Given the description of an element on the screen output the (x, y) to click on. 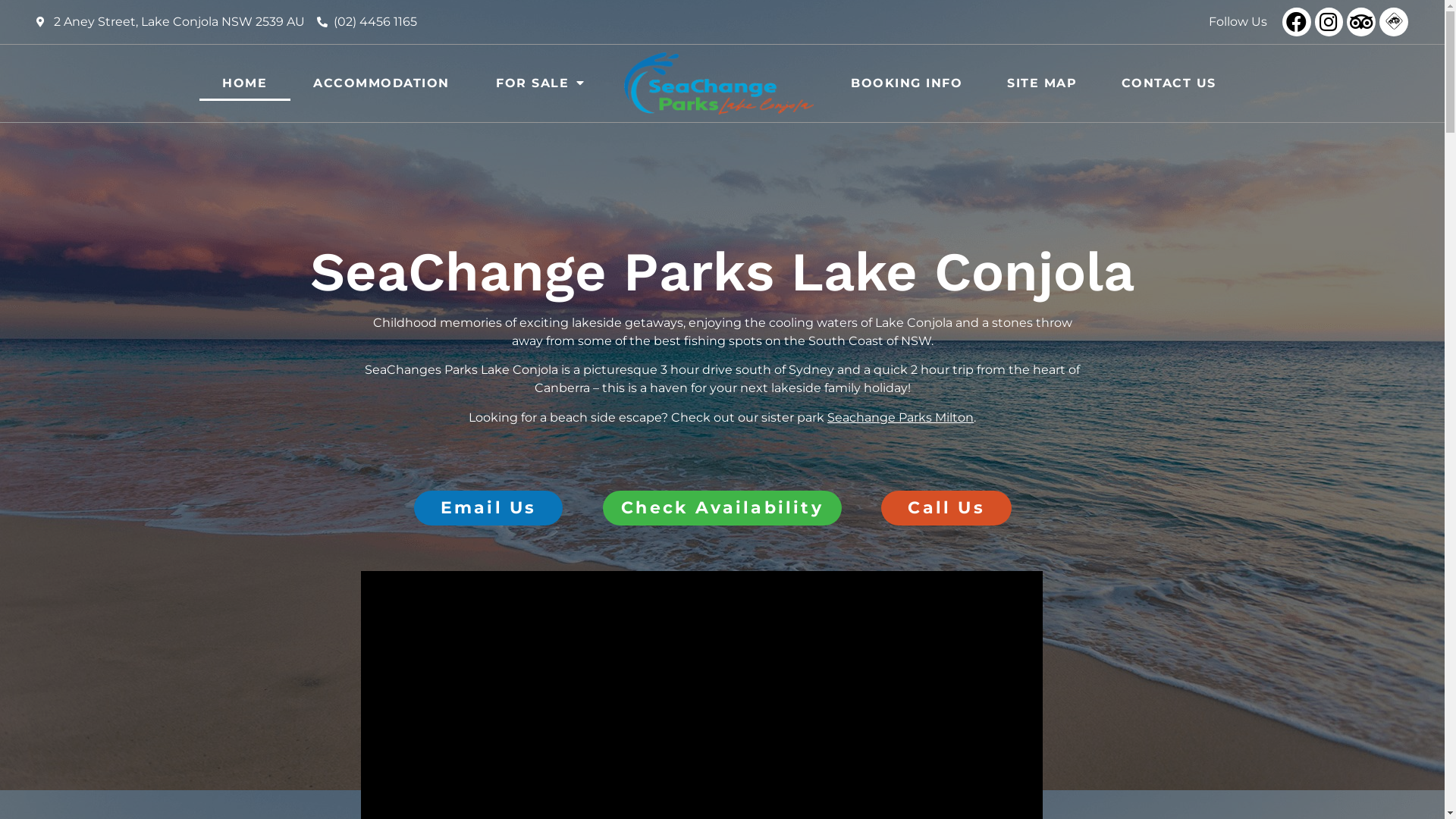
Check Availability Element type: text (721, 507)
CONTACT US Element type: text (1169, 82)
Call Us Element type: text (945, 507)
ACCOMMODATION Element type: text (381, 82)
Email Us Element type: text (488, 507)
BOOKING INFO Element type: text (906, 82)
HOME Element type: text (243, 82)
SITE MAP Element type: text (1042, 82)
FOR SALE Element type: text (540, 82)
Seachange Parks Milton Element type: text (900, 417)
